Given the description of an element on the screen output the (x, y) to click on. 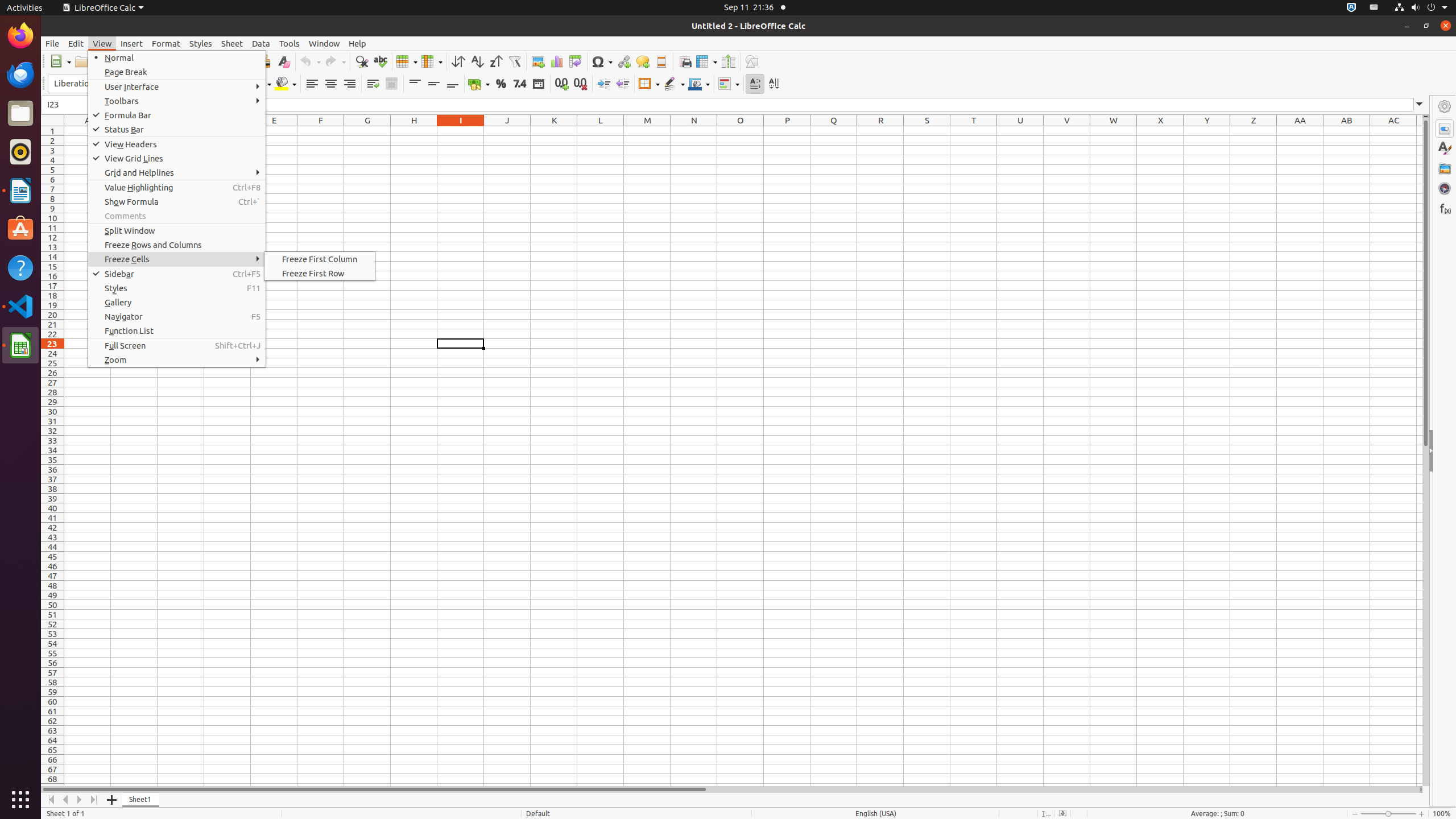
Y1 Element type: table-cell (1206, 130)
Border Style Element type: push-button (673, 83)
Clear Element type: push-button (283, 61)
F1 Element type: table-cell (320, 130)
